Given the description of an element on the screen output the (x, y) to click on. 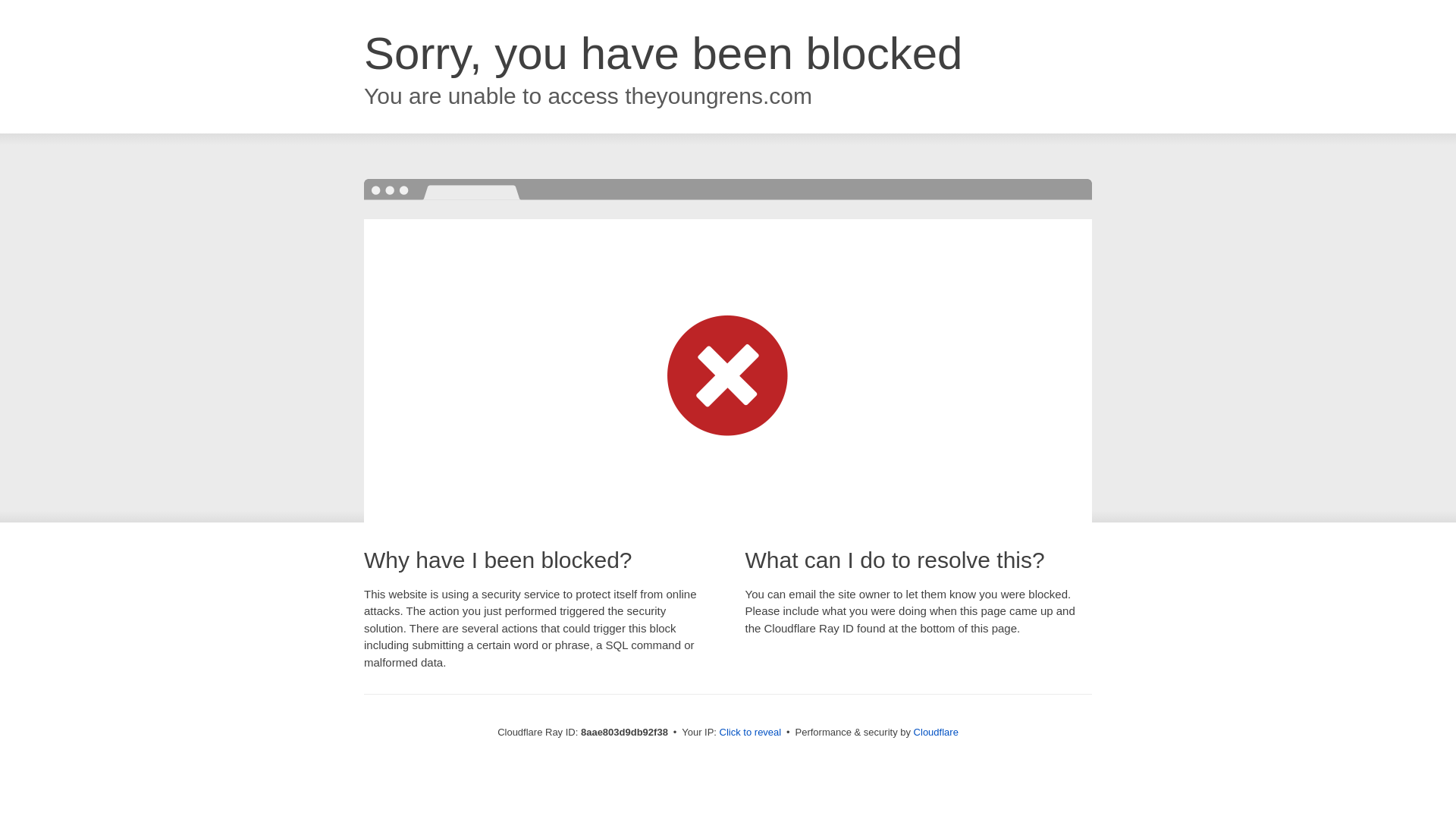
Cloudflare (936, 731)
Click to reveal (750, 732)
